Given the description of an element on the screen output the (x, y) to click on. 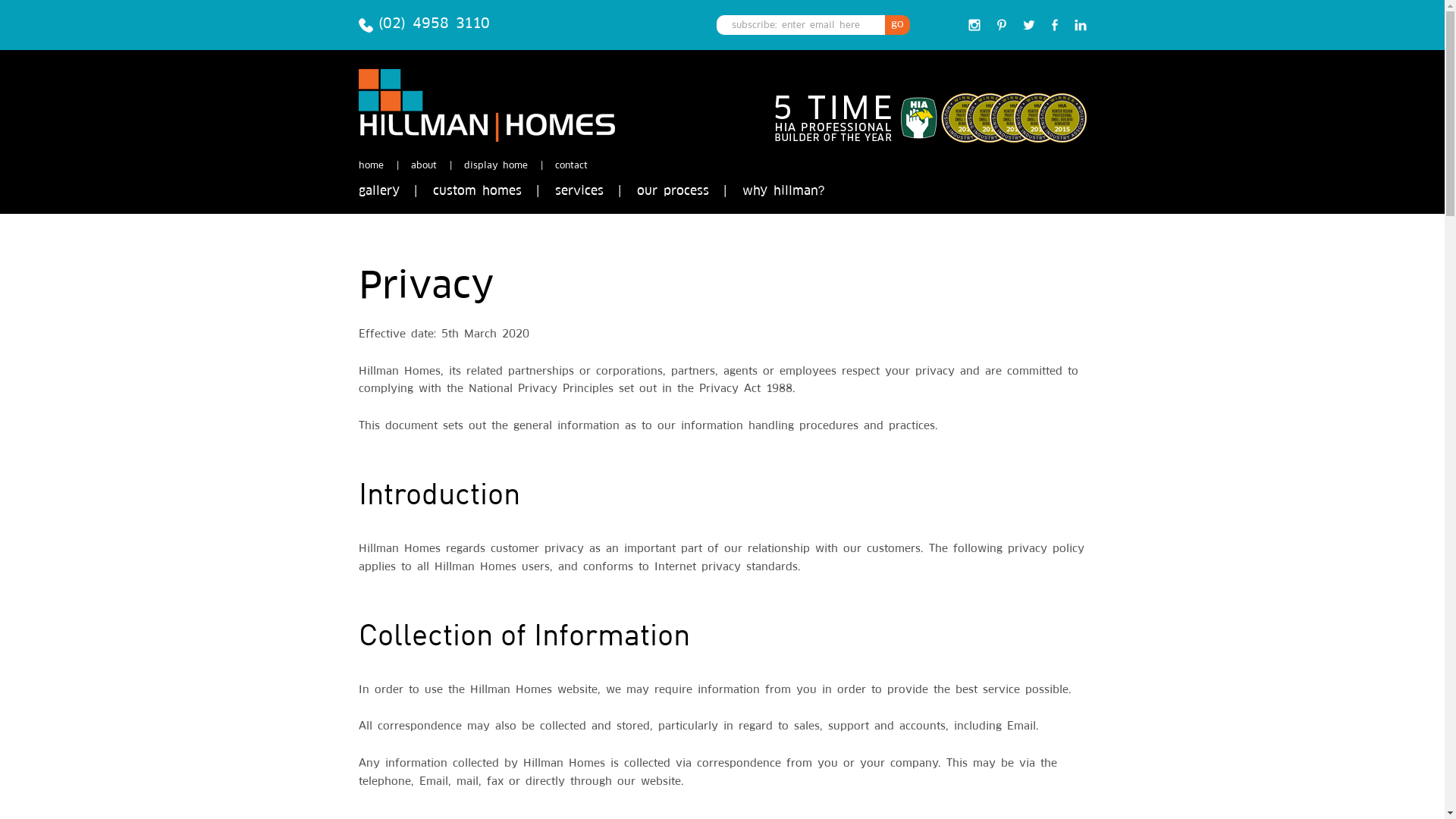
services Element type: text (579, 197)
Instagram Element type: text (973, 24)
Go Element type: text (896, 24)
gallery Element type: text (377, 197)
Facebook Element type: text (1053, 24)
contact Element type: text (571, 165)
why hillman? Element type: text (782, 197)
Twitter Element type: text (1027, 24)
custom homes Element type: text (476, 197)
Pinterest Element type: text (1000, 24)
about Element type: text (423, 165)
display home Element type: text (495, 165)
home Element type: text (369, 165)
LinkedIn Element type: text (1079, 24)
our process Element type: text (673, 197)
